Given the description of an element on the screen output the (x, y) to click on. 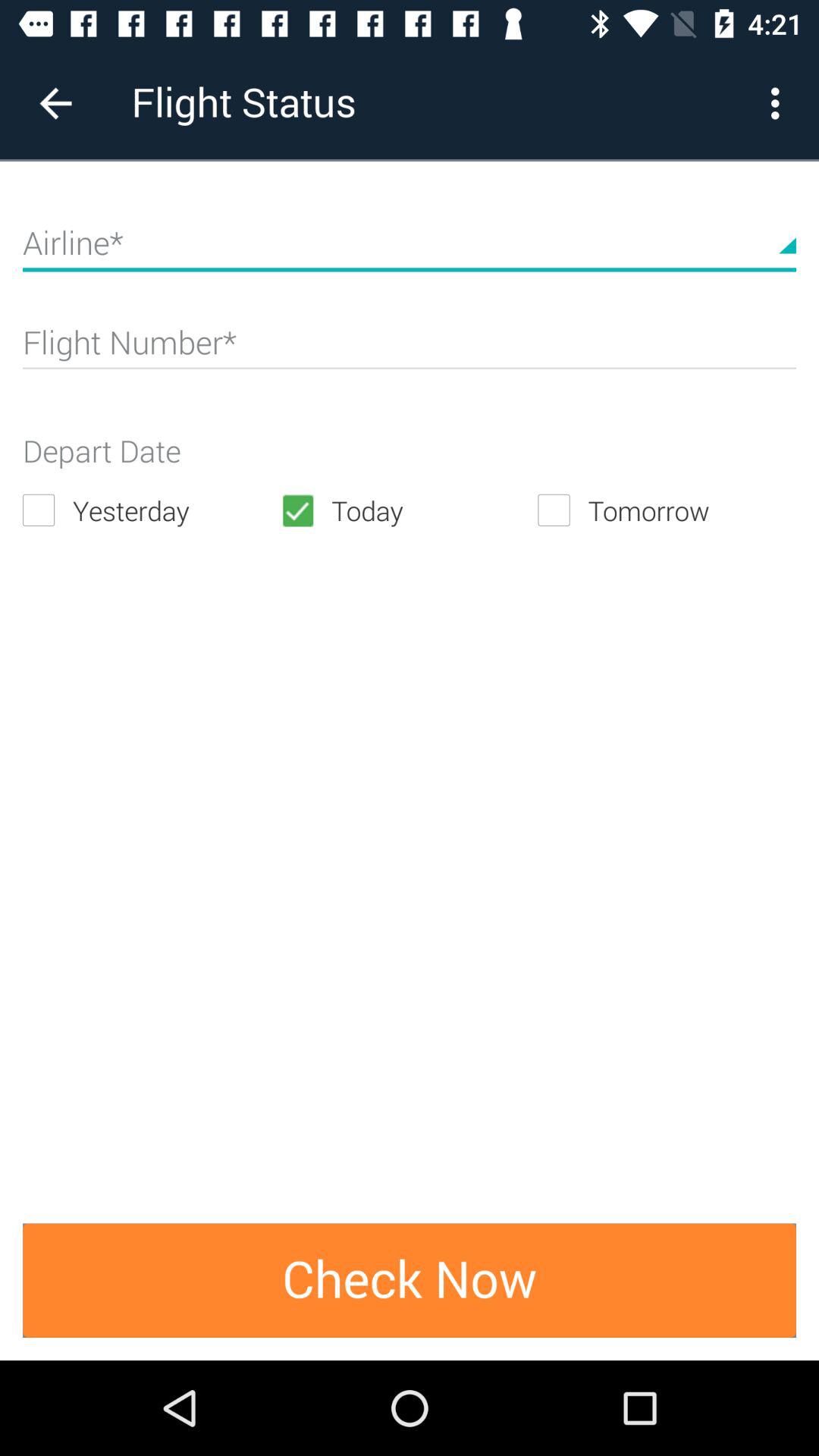
swipe to today (409, 510)
